Given the description of an element on the screen output the (x, y) to click on. 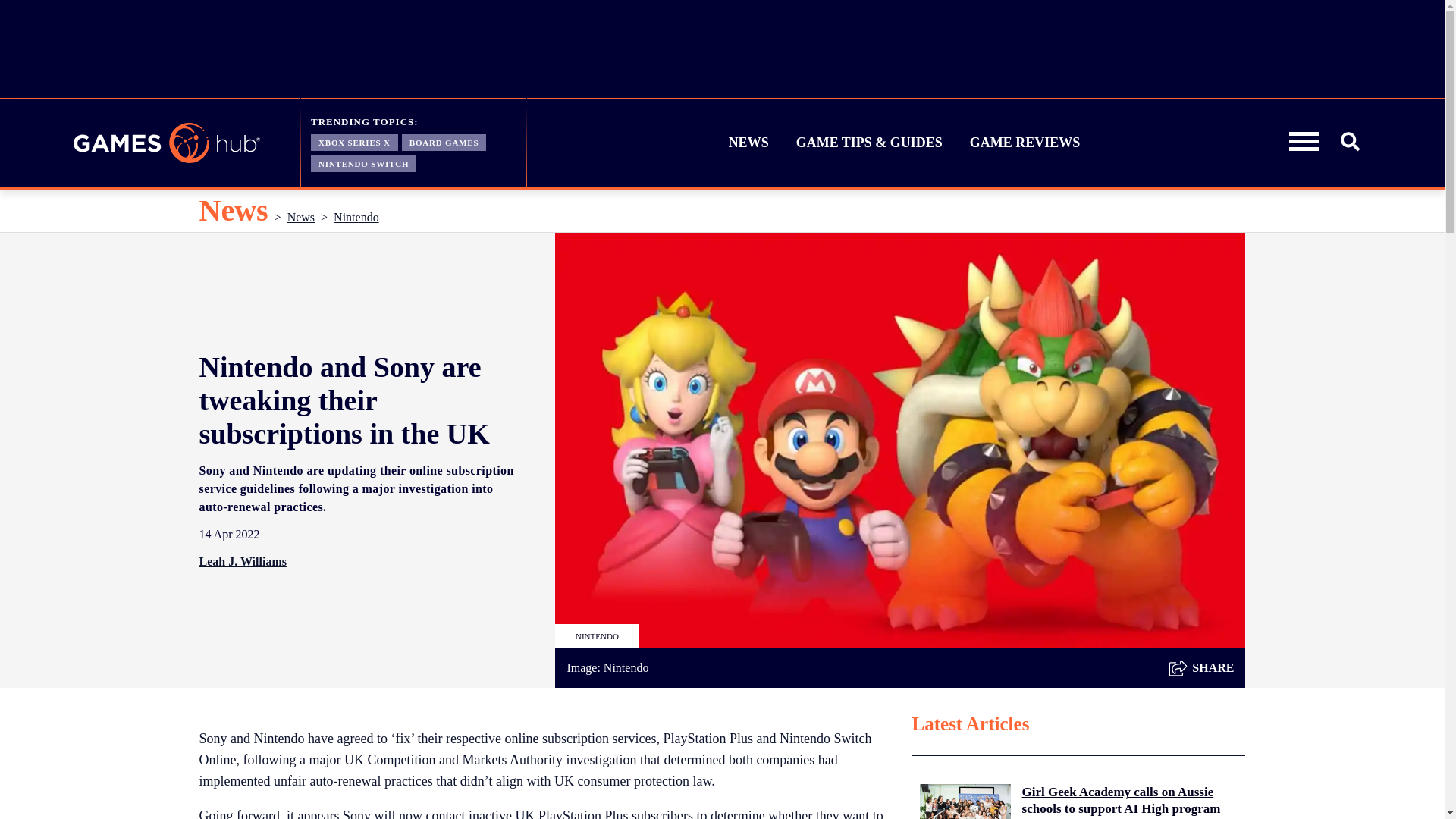
NEWS (748, 142)
XBOX SERIES X (354, 141)
GAME REVIEWS (1025, 142)
NINTENDO SWITCH (363, 162)
BOARD GAMES (443, 141)
